Given the description of an element on the screen output the (x, y) to click on. 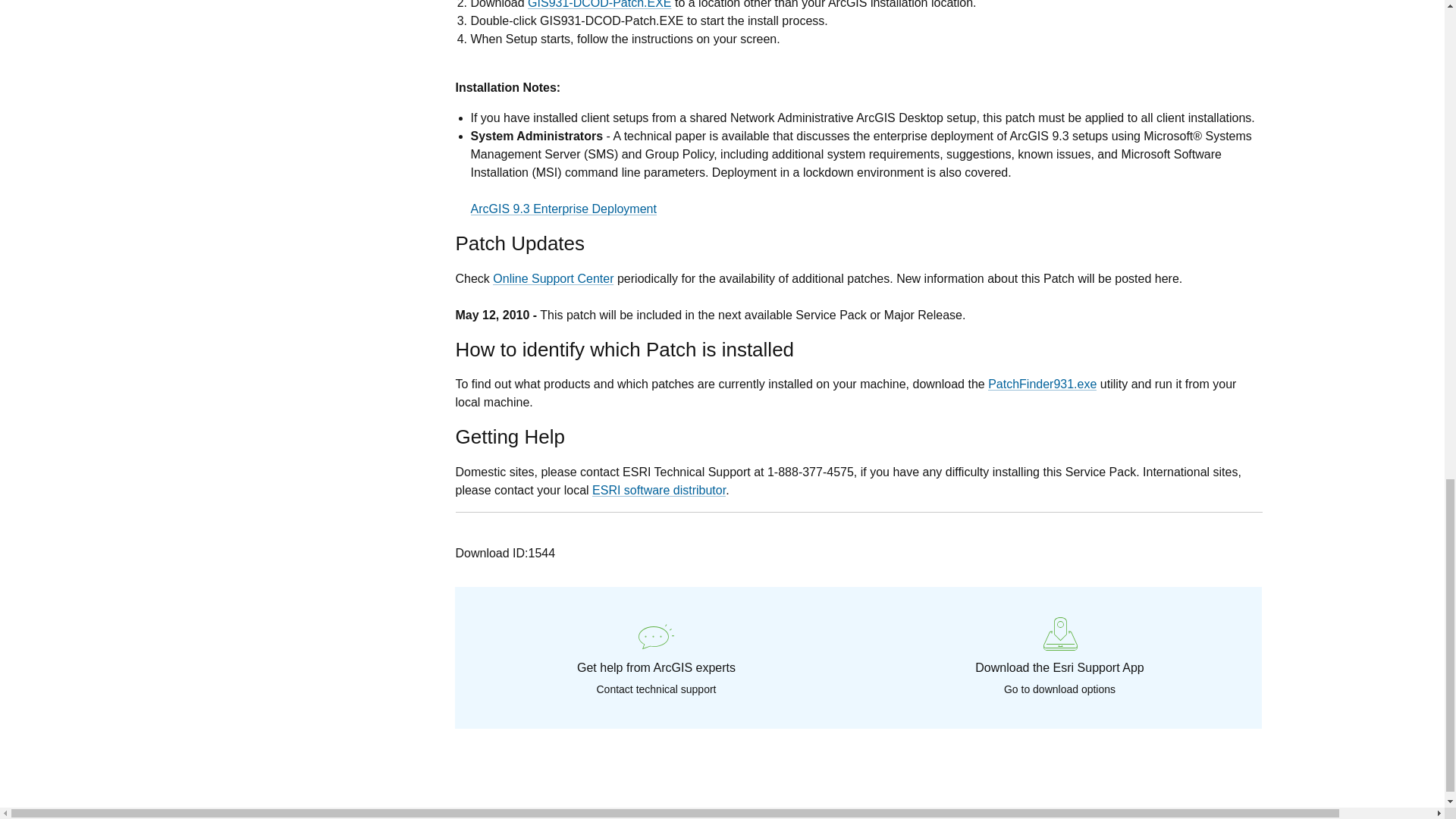
PatchFinder931.exe (1042, 383)
ESRI software distributor (658, 490)
ArcGIS 9.3 Enterprise Deployment (563, 208)
GIS931-DCOD-Patch.EXE (599, 4)
Online Support Center (552, 278)
